Given the description of an element on the screen output the (x, y) to click on. 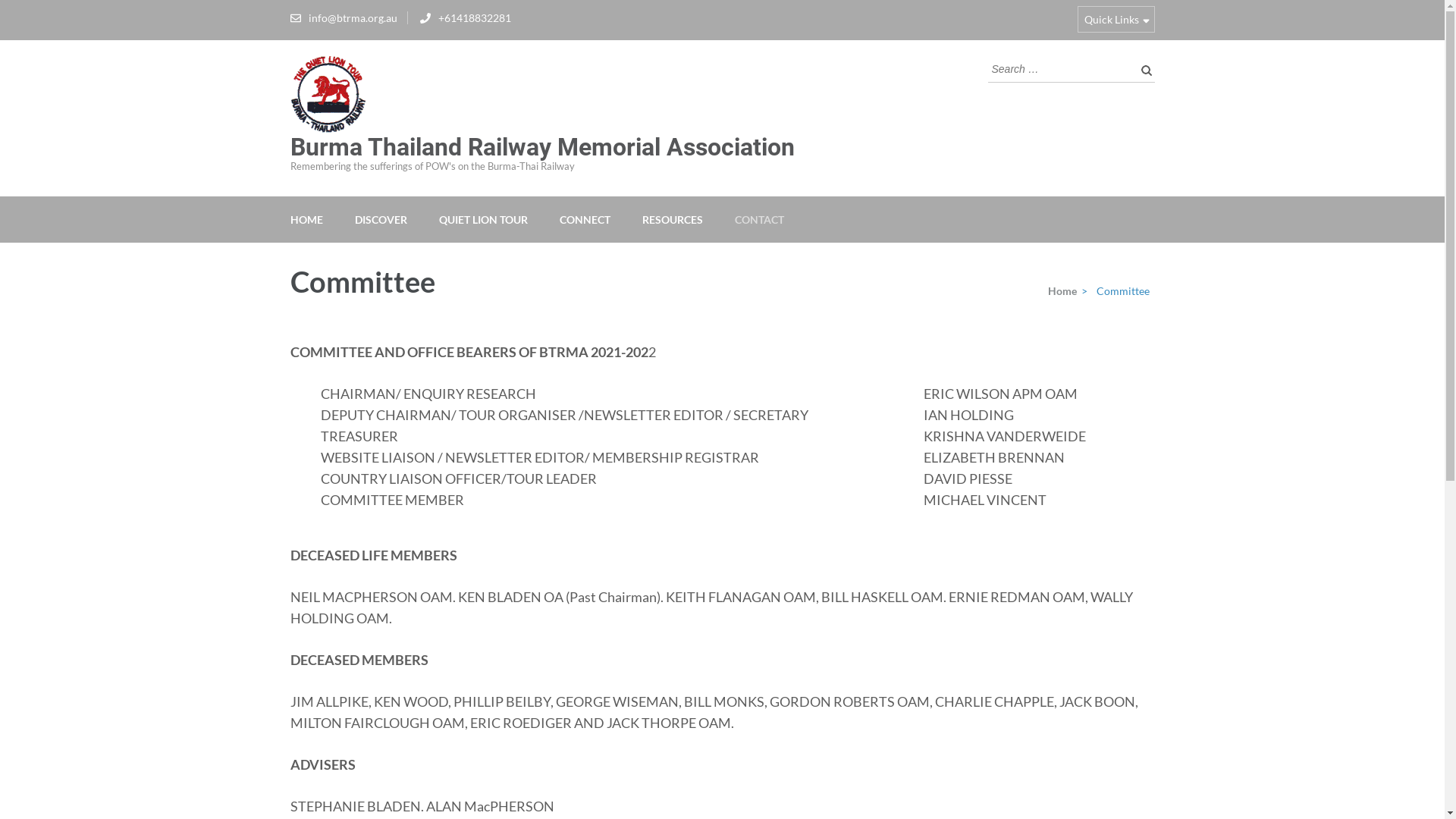
HOME Element type: text (305, 218)
RESOURCES Element type: text (671, 218)
+61418832281 Element type: text (474, 17)
Search Element type: text (1142, 69)
Home Element type: text (1059, 289)
CONNECT Element type: text (584, 218)
Skip to content (Press Enter) Element type: text (0, 0)
Burma Thailand Railway Memorial Association Element type: text (541, 146)
DISCOVER Element type: text (380, 218)
Quick Links Element type: text (1115, 19)
CONTACT Element type: text (758, 218)
QUIET LION TOUR Element type: text (482, 218)
info@btrma.org.au Element type: text (351, 17)
